Given the description of an element on the screen output the (x, y) to click on. 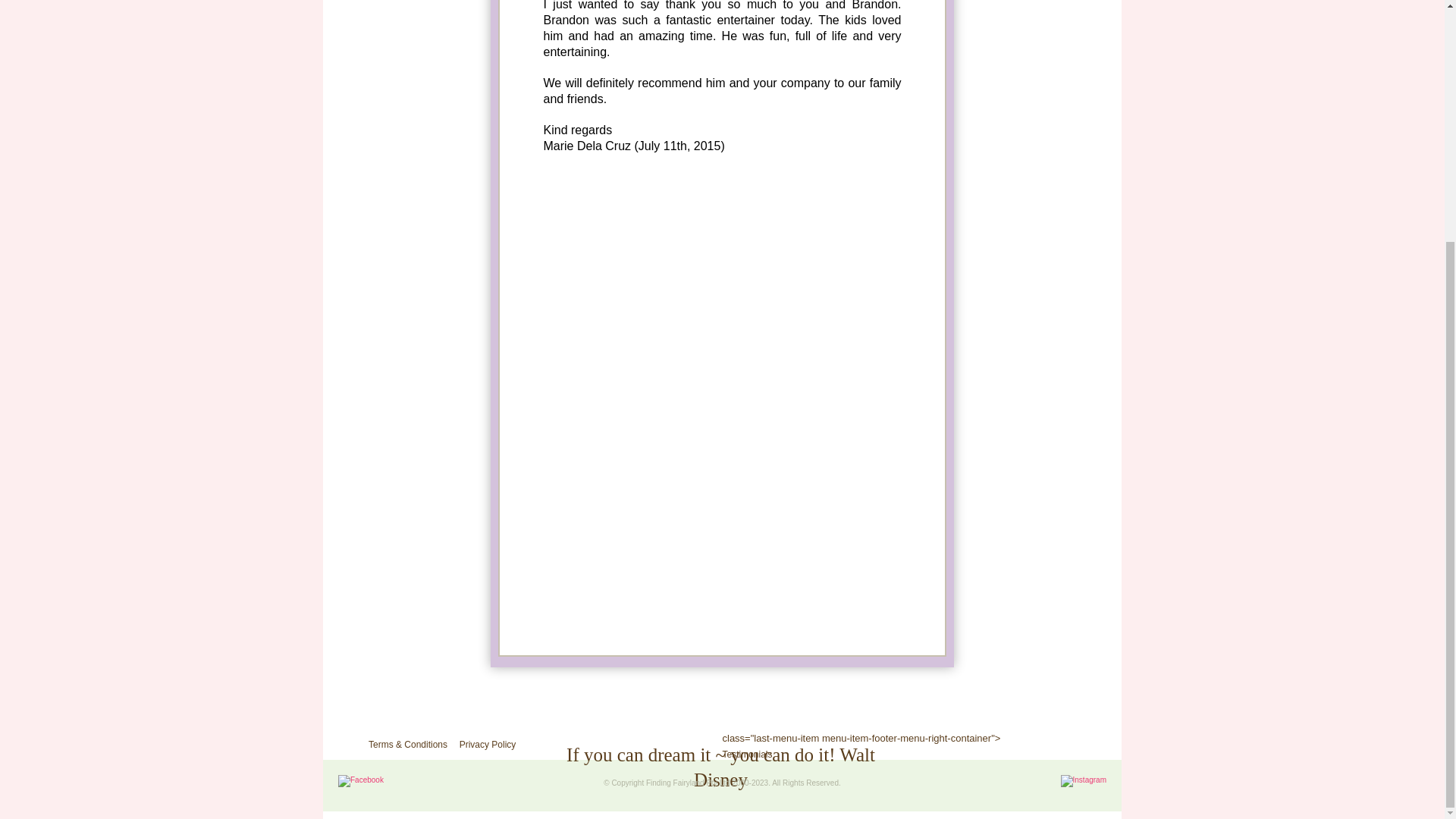
Privacy Policy (488, 744)
Fairy and the Frog Facebook (360, 783)
Testimonials (746, 754)
Fairy and the Frog Instagram (1083, 784)
